Given the description of an element on the screen output the (x, y) to click on. 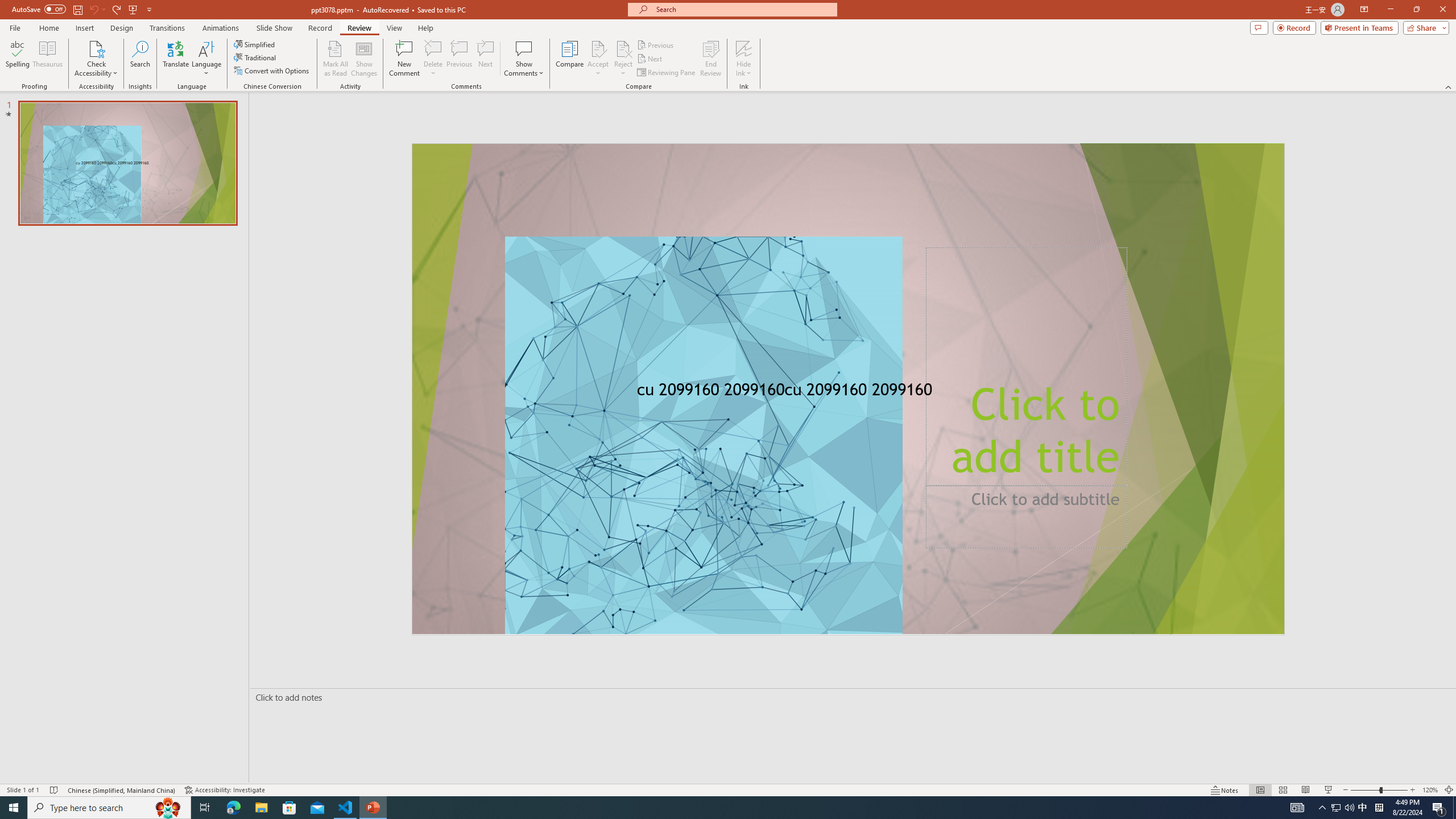
Previous (655, 44)
Traditional (255, 56)
Reject Change (622, 48)
End Review (710, 58)
Thesaurus... (47, 58)
Accept (598, 58)
Compare (569, 58)
